Given the description of an element on the screen output the (x, y) to click on. 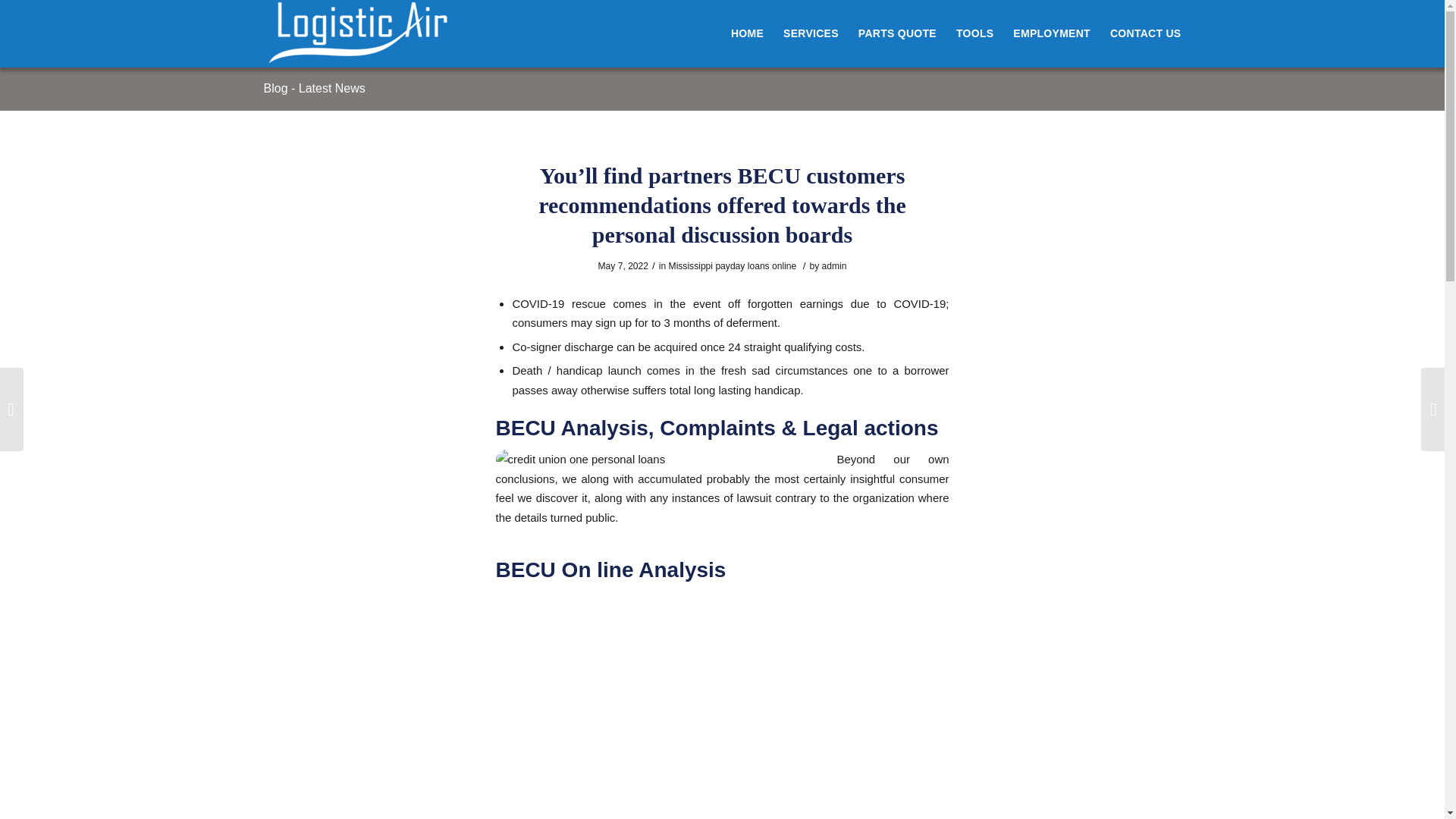
Posts by admin (834, 266)
Permanent Link: Blog - Latest News (314, 88)
admin (834, 266)
PARTS QUOTE (897, 33)
SERVICES (810, 33)
Mississippi payday loans online (732, 266)
CONTACT US (1140, 33)
Blog - Latest News (314, 88)
EMPLOYMENT (1051, 33)
